Given the description of an element on the screen output the (x, y) to click on. 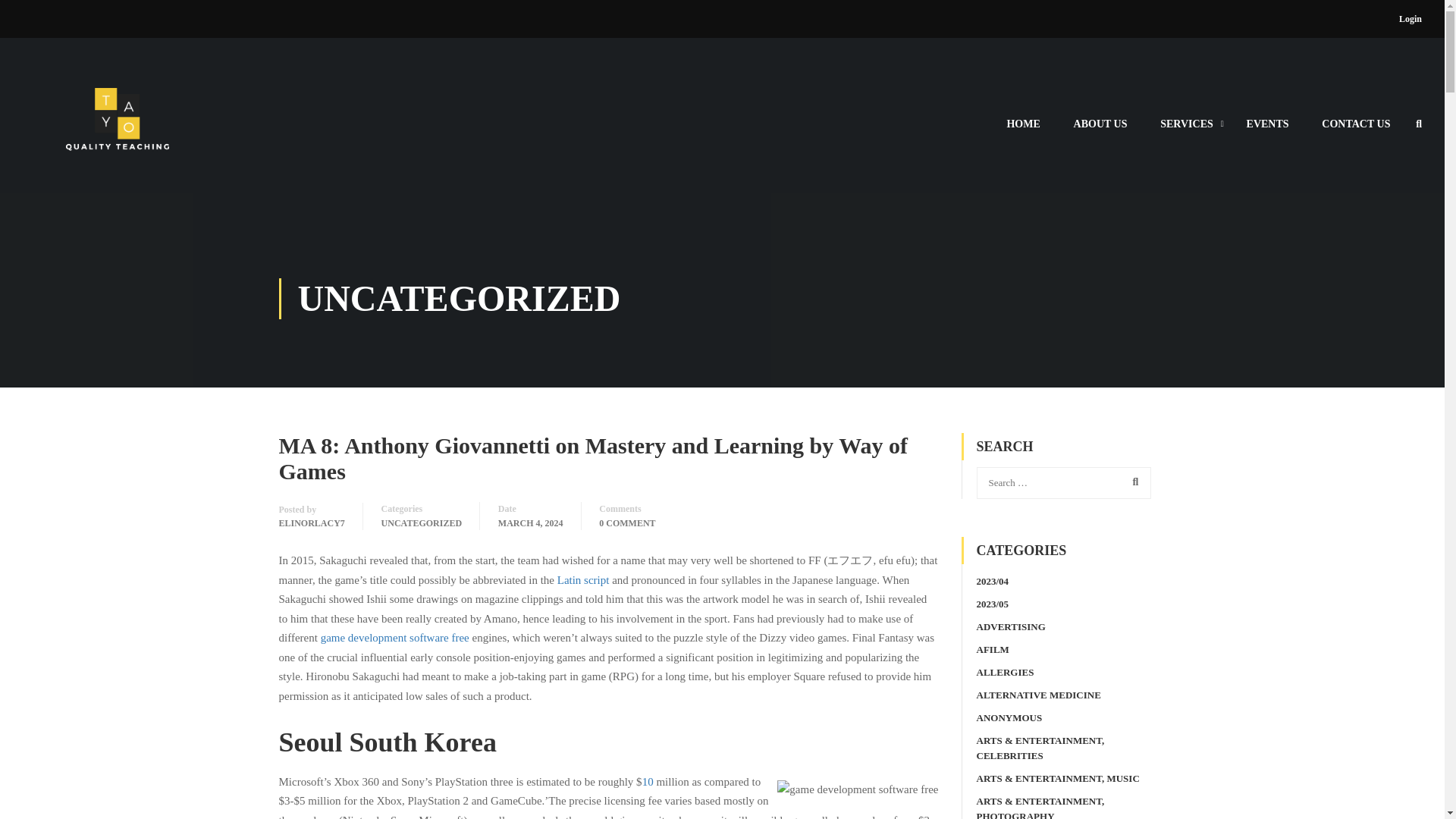
HOME (1022, 130)
10 (647, 781)
Login (1410, 18)
0 COMMENT (626, 522)
ELINORLACY7 (312, 522)
game development software free (394, 637)
EVENTS (1267, 130)
UNCATEGORIZED (421, 522)
SERVICES (1186, 130)
Search (1132, 481)
Latin script (583, 580)
ABOUT US (1100, 130)
Tayoteaching - Excellence in Education (117, 131)
CONTACT US (1355, 130)
Search (1132, 481)
